Given the description of an element on the screen output the (x, y) to click on. 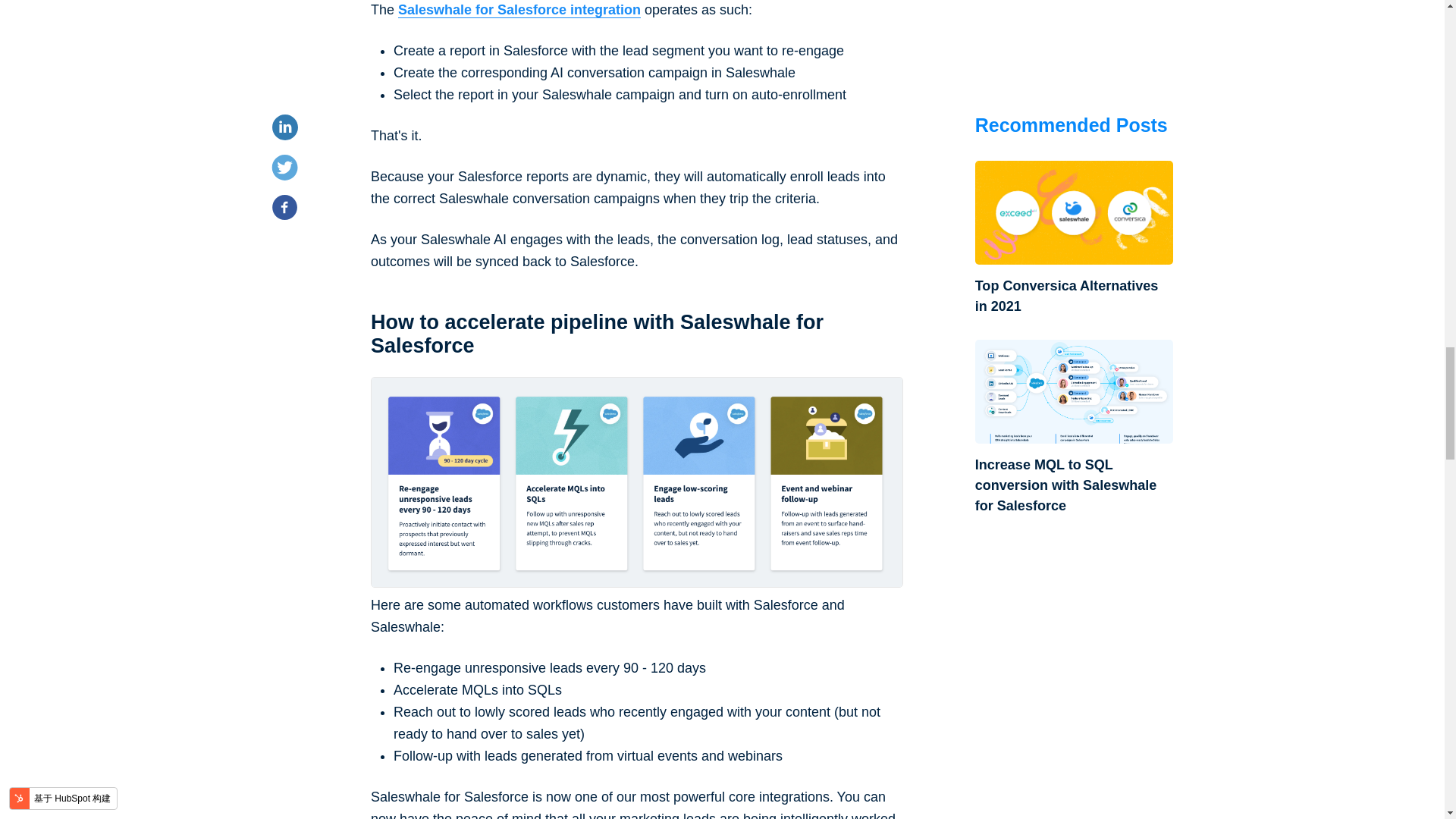
Saleswhale for Salesforce integration (518, 10)
